Given the description of an element on the screen output the (x, y) to click on. 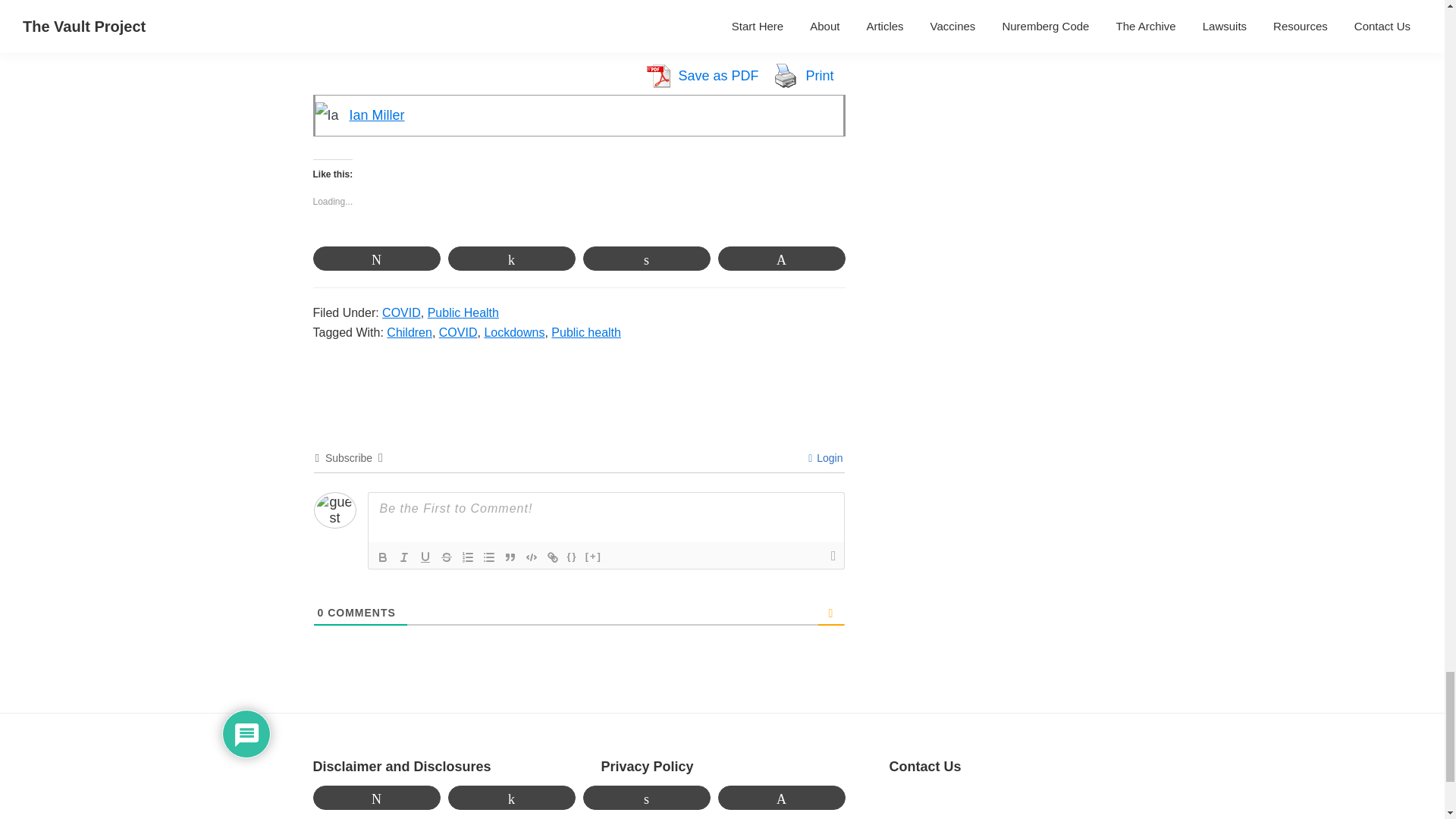
Print Content (786, 75)
Code Block (530, 556)
Italic (403, 556)
Link (551, 556)
Strike (446, 556)
Source Code (571, 556)
Ian Miller (376, 114)
Bold (382, 556)
Spoiler (592, 556)
Ordered List (467, 556)
Unordered List (488, 556)
Blockquote (509, 556)
Underline (424, 556)
Download PDF (658, 75)
